Given the description of an element on the screen output the (x, y) to click on. 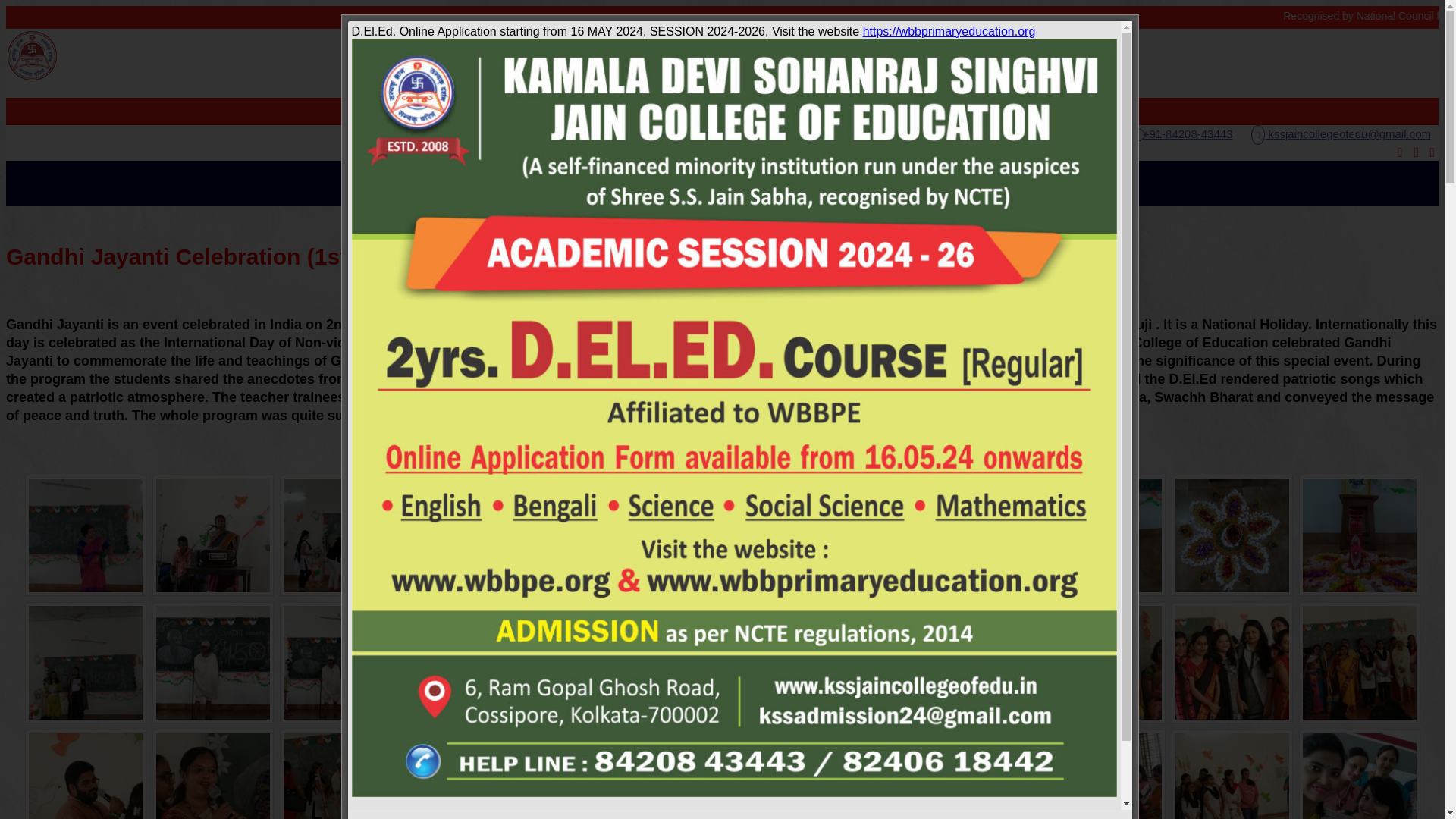
Faculty (586, 183)
Home (383, 183)
Academics (523, 183)
Facilities (795, 183)
Admission (648, 183)
Student Cell (724, 183)
The College (446, 183)
Events (850, 183)
